Given the description of an element on the screen output the (x, y) to click on. 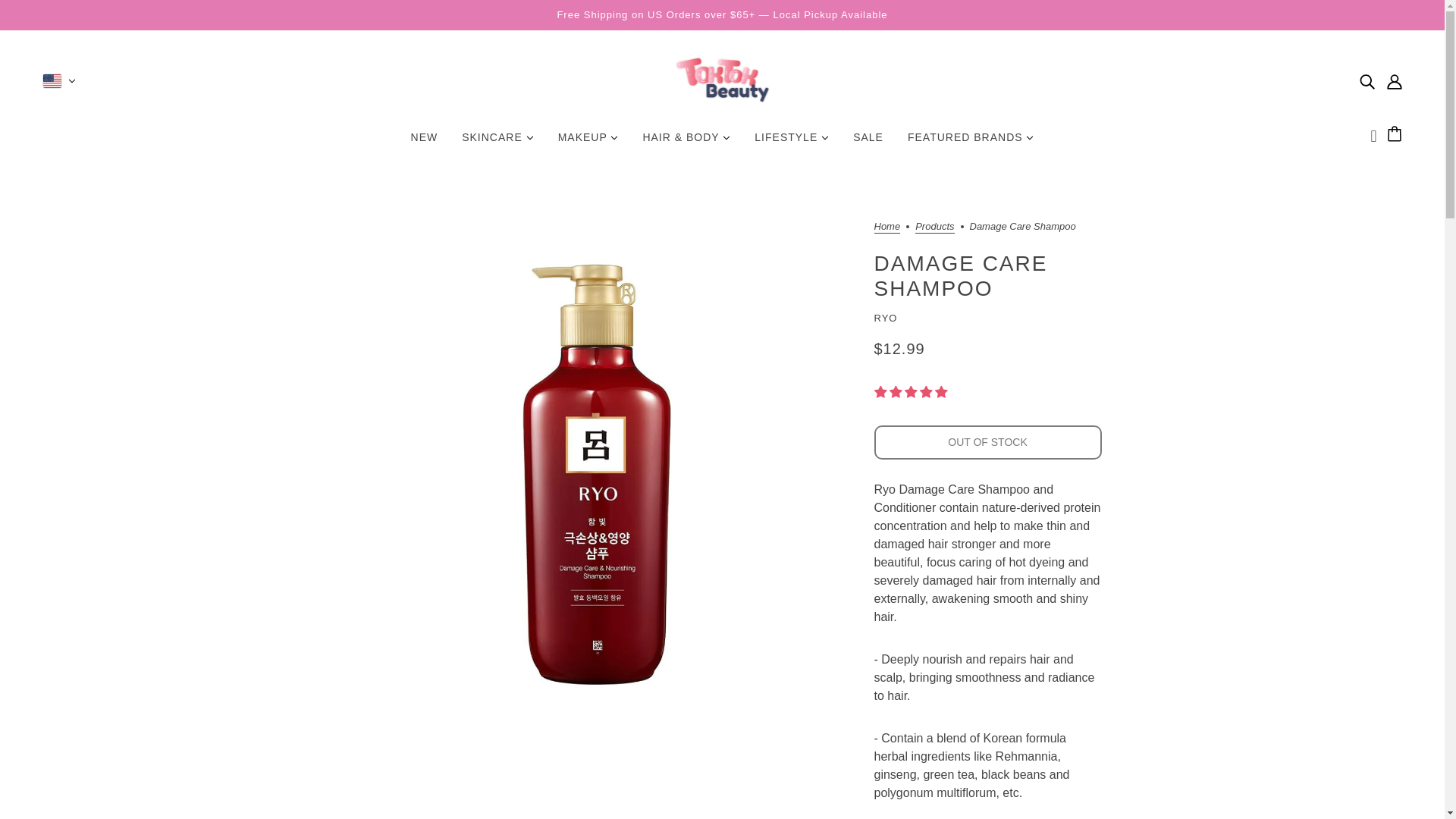
SKINCARE (496, 143)
TokTok Beauty (721, 80)
MAKEUP (588, 143)
NEW (423, 143)
